Given the description of an element on the screen output the (x, y) to click on. 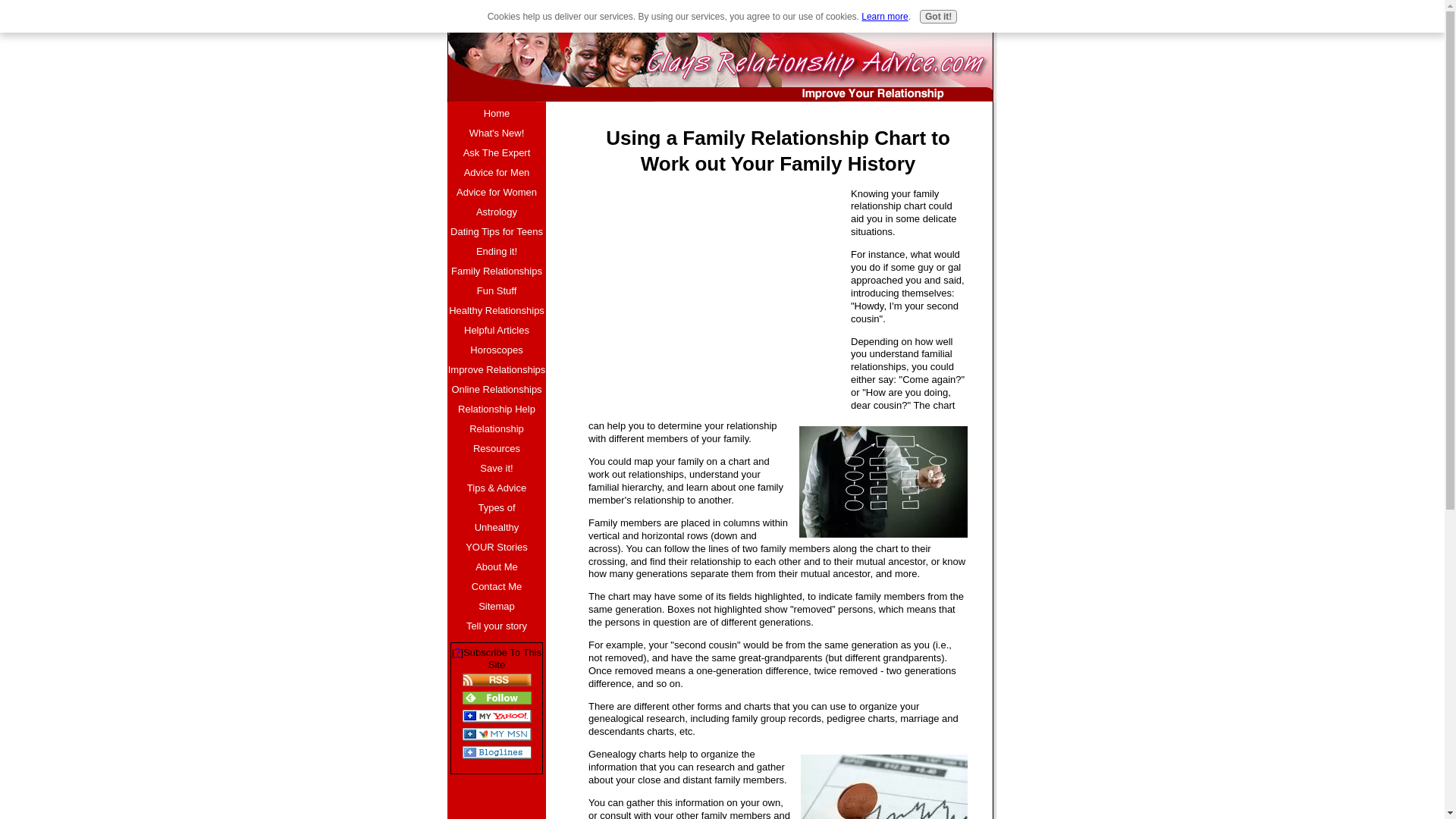
YOUR Stories (496, 547)
Contact Me (496, 587)
Advertisement (715, 294)
Ending it! (496, 251)
Ask The Expert (496, 152)
Advice for Men (496, 172)
Horoscopes (496, 350)
Relationship Help (496, 409)
Advice for Women (496, 192)
Sitemap (496, 606)
Learn more (884, 16)
What's New! (496, 133)
Unhealthy (496, 527)
Helpful Articles (496, 330)
Improve Relationships (496, 370)
